Given the description of an element on the screen output the (x, y) to click on. 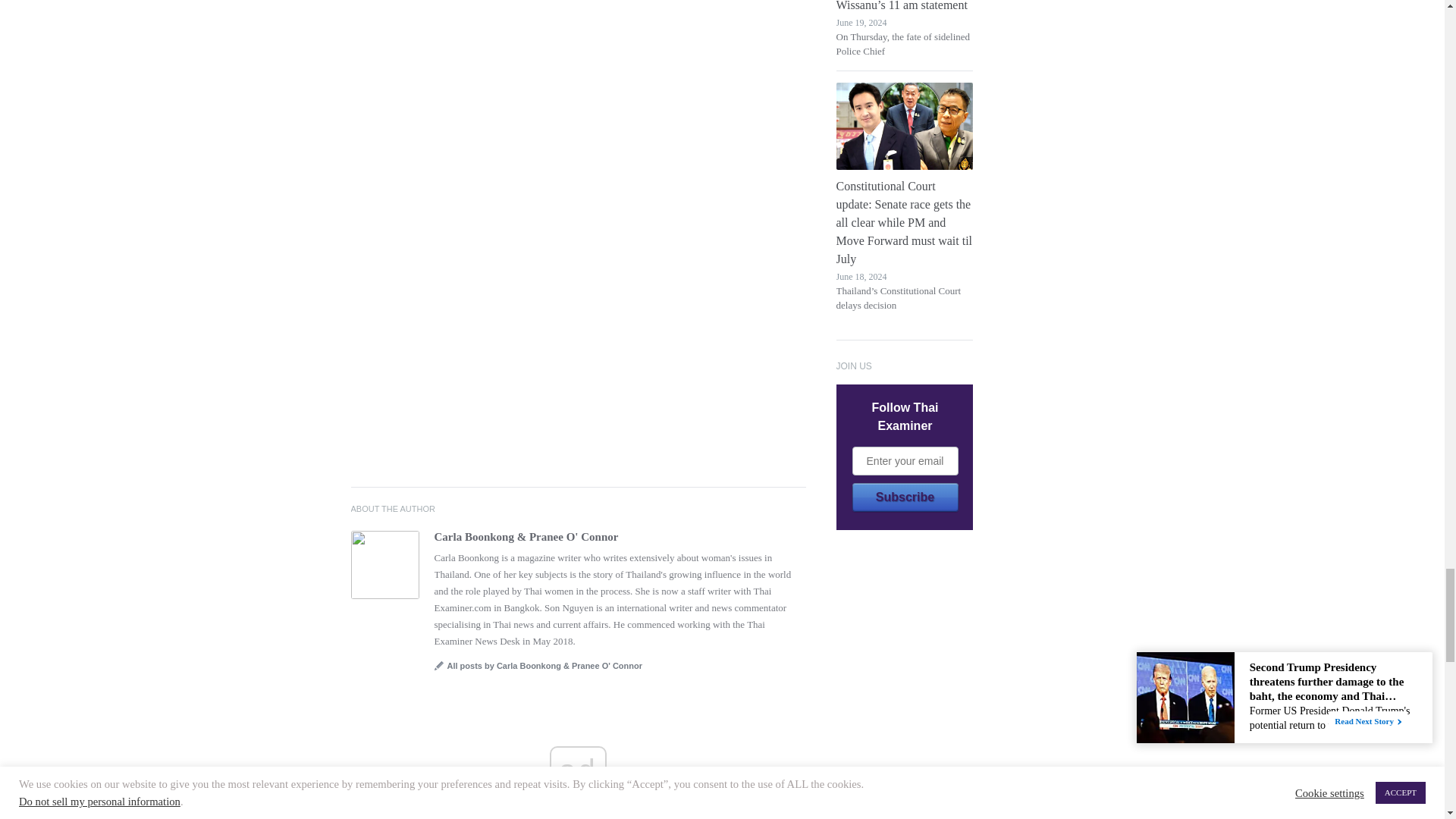
Subscribe (904, 497)
